Given the description of an element on the screen output the (x, y) to click on. 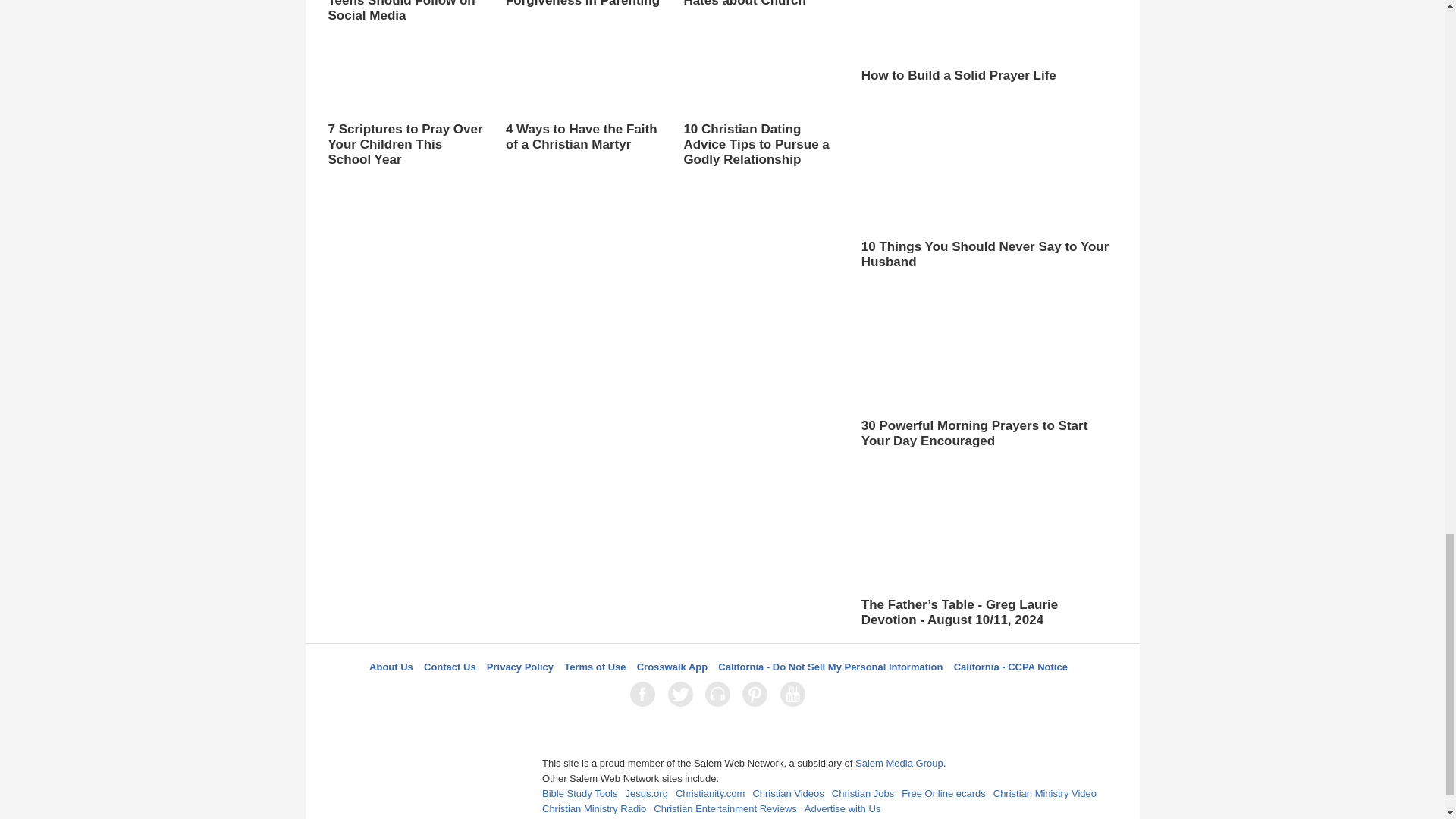
YouTube (795, 693)
The Power of Asking for Forgiveness in Parenting (583, 18)
4 Ways to Have the Faith of a Christian Martyr (583, 94)
Facebook (645, 693)
10 Things Your Husband Hates about Church (760, 4)
7 Scriptures to Pray Over Your Children This School Year (404, 101)
LifeAudio (719, 693)
Twitter (683, 693)
Pinterest (757, 693)
